Given the description of an element on the screen output the (x, y) to click on. 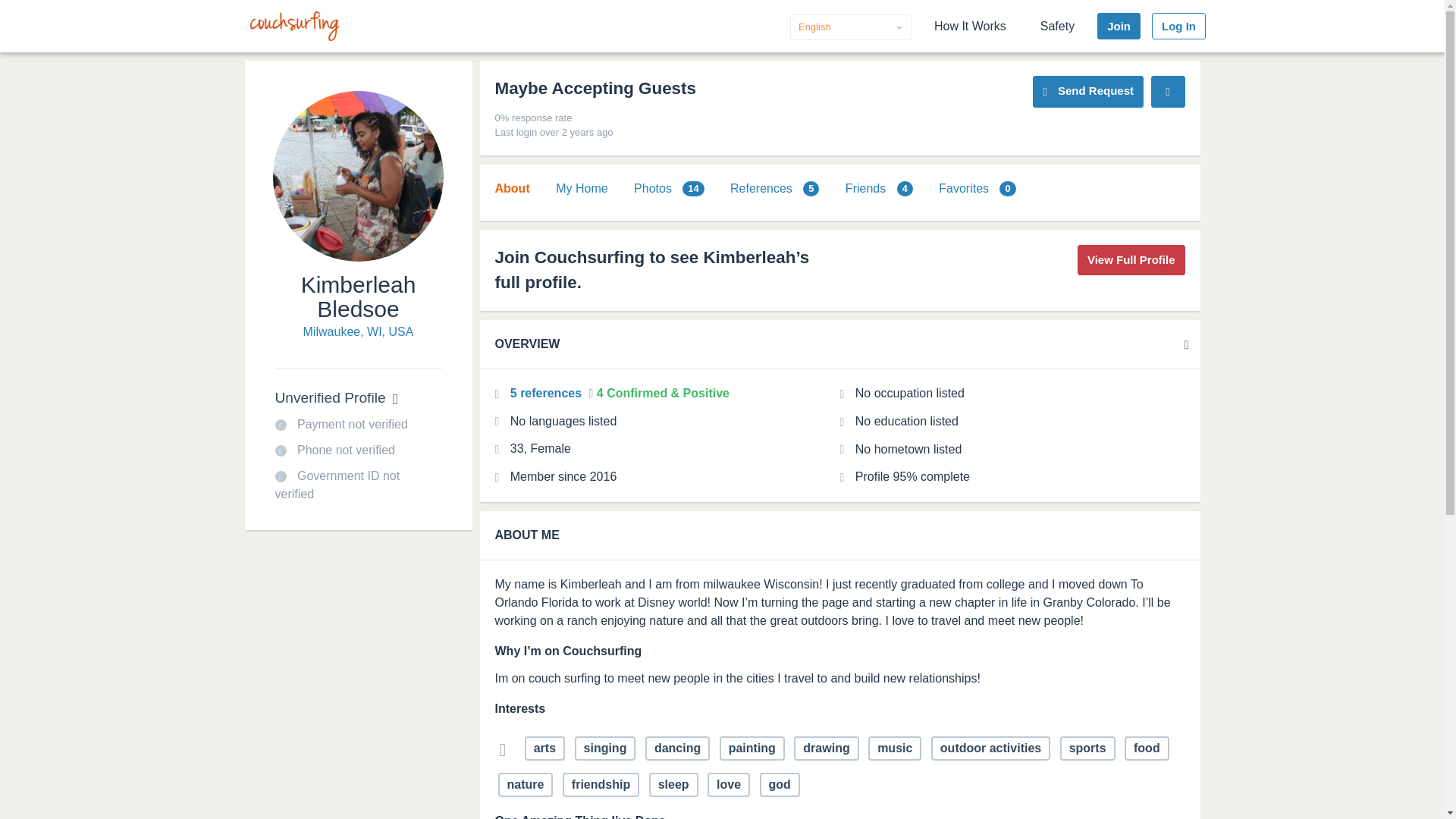
Join (1118, 26)
Photos 14 (668, 188)
View Full Profile (1131, 260)
5 references (548, 392)
How It Works (970, 26)
Safety (1057, 26)
Log In (1178, 26)
Send Request (1087, 91)
Milwaukee, WI, USA (358, 331)
My Home (581, 188)
Friends 4 (878, 188)
Couchsurfing (294, 25)
Kimberleah Bledsoe (358, 296)
References 5 (774, 188)
About (512, 188)
